Given the description of an element on the screen output the (x, y) to click on. 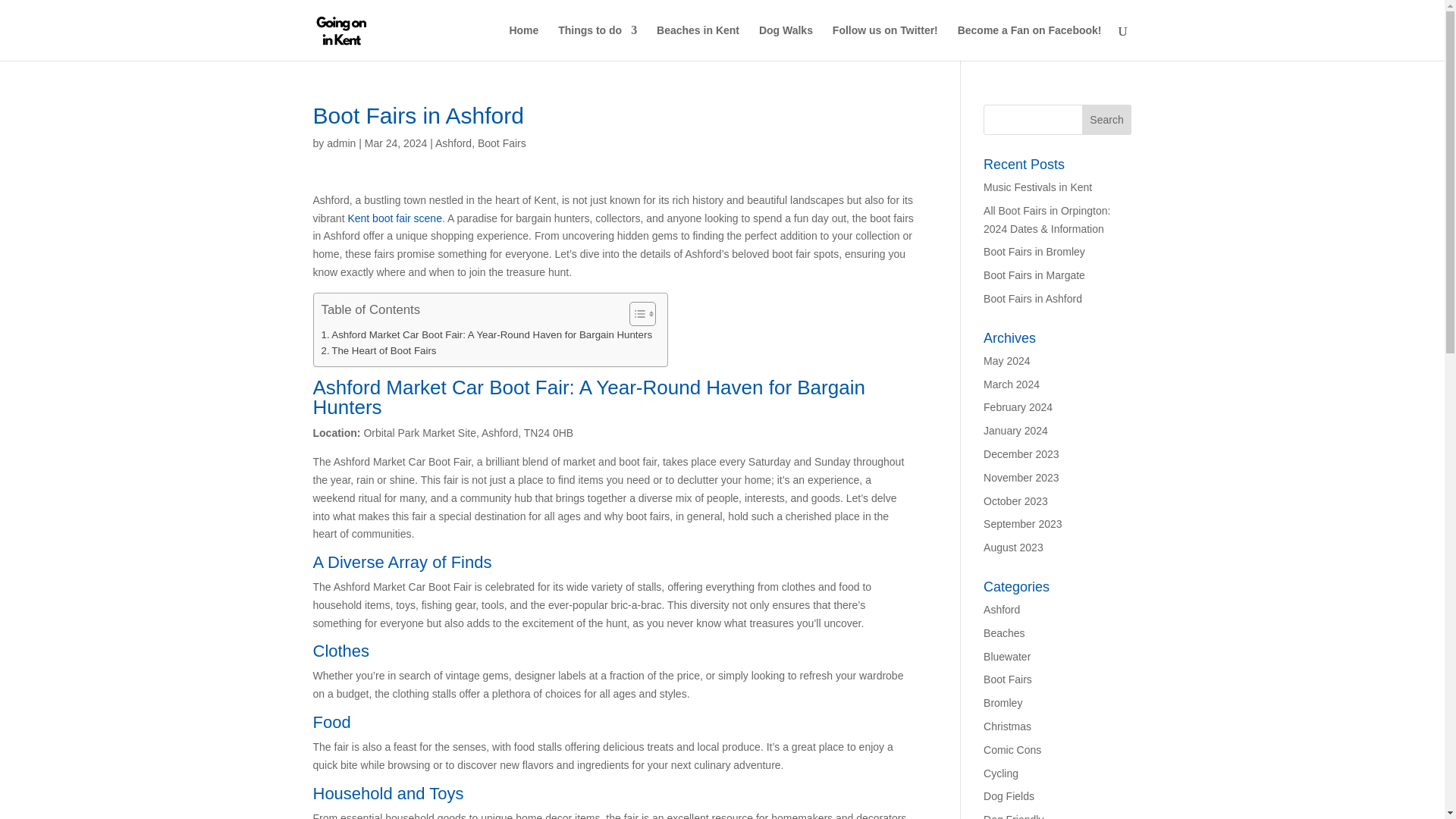
The Heart of Boot Fairs (378, 350)
Dog Walks (785, 42)
Ashford (453, 143)
admin (340, 143)
Beaches in Kent (697, 42)
Posts by admin (340, 143)
Boot Fairs in Bromley (1034, 251)
Become a Fan on Facebook! (1030, 42)
The Heart of Boot Fairs (378, 350)
